Given the description of an element on the screen output the (x, y) to click on. 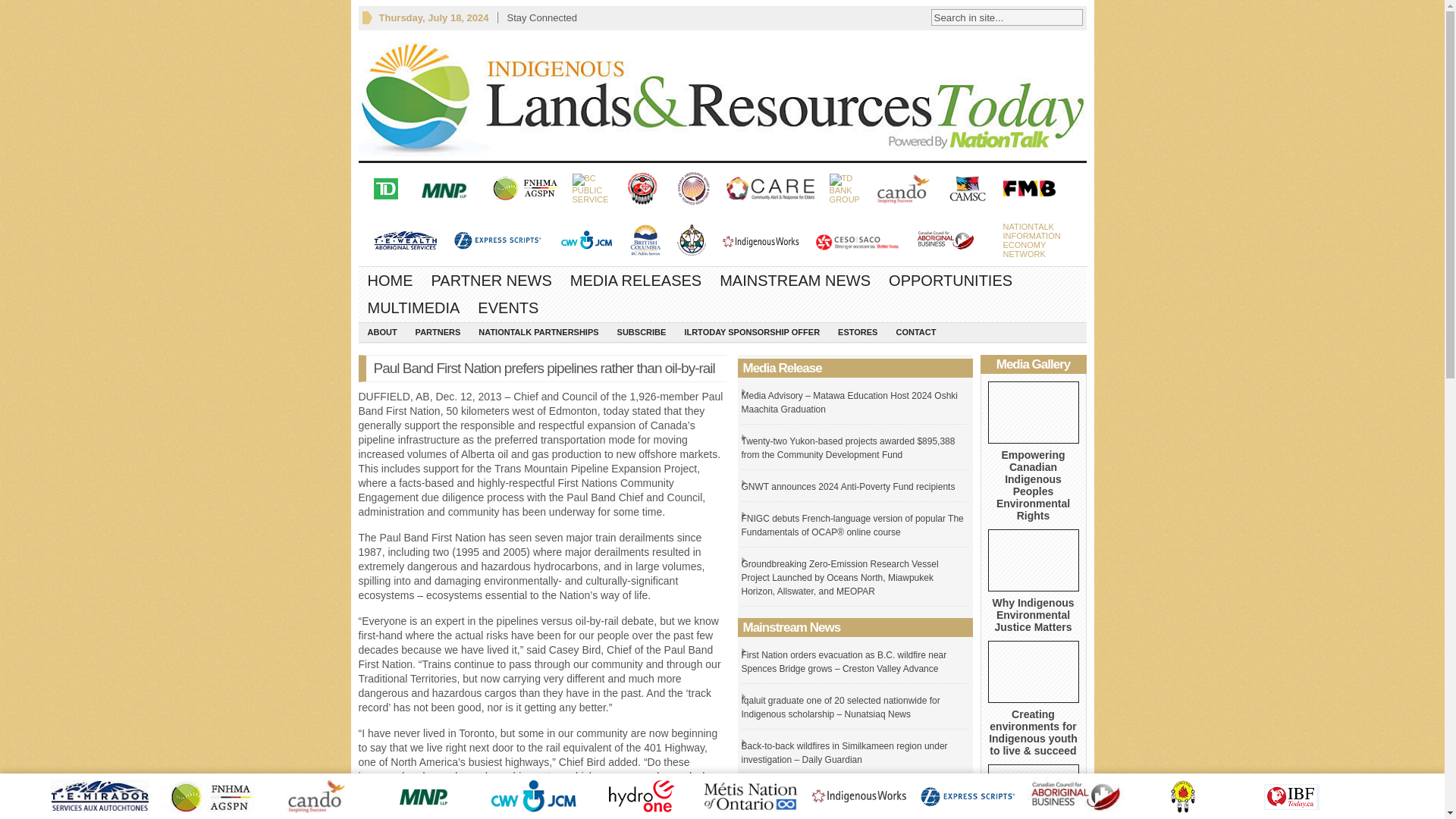
Search in site... (996, 17)
Stay Connected (541, 18)
Empowering Canadian Indigenous Peoples Environmental Rights (1031, 239)
Today's Top Aboriginal Lands and Resources News (1033, 412)
HOME (722, 95)
PARTNER NEWS (390, 280)
Permalink to Why Indigenous Environmental Justice Matters (491, 280)
Why Indigenous Environmental Justice Matters (1032, 615)
MEDIA RELEASES (1033, 559)
